Given the description of an element on the screen output the (x, y) to click on. 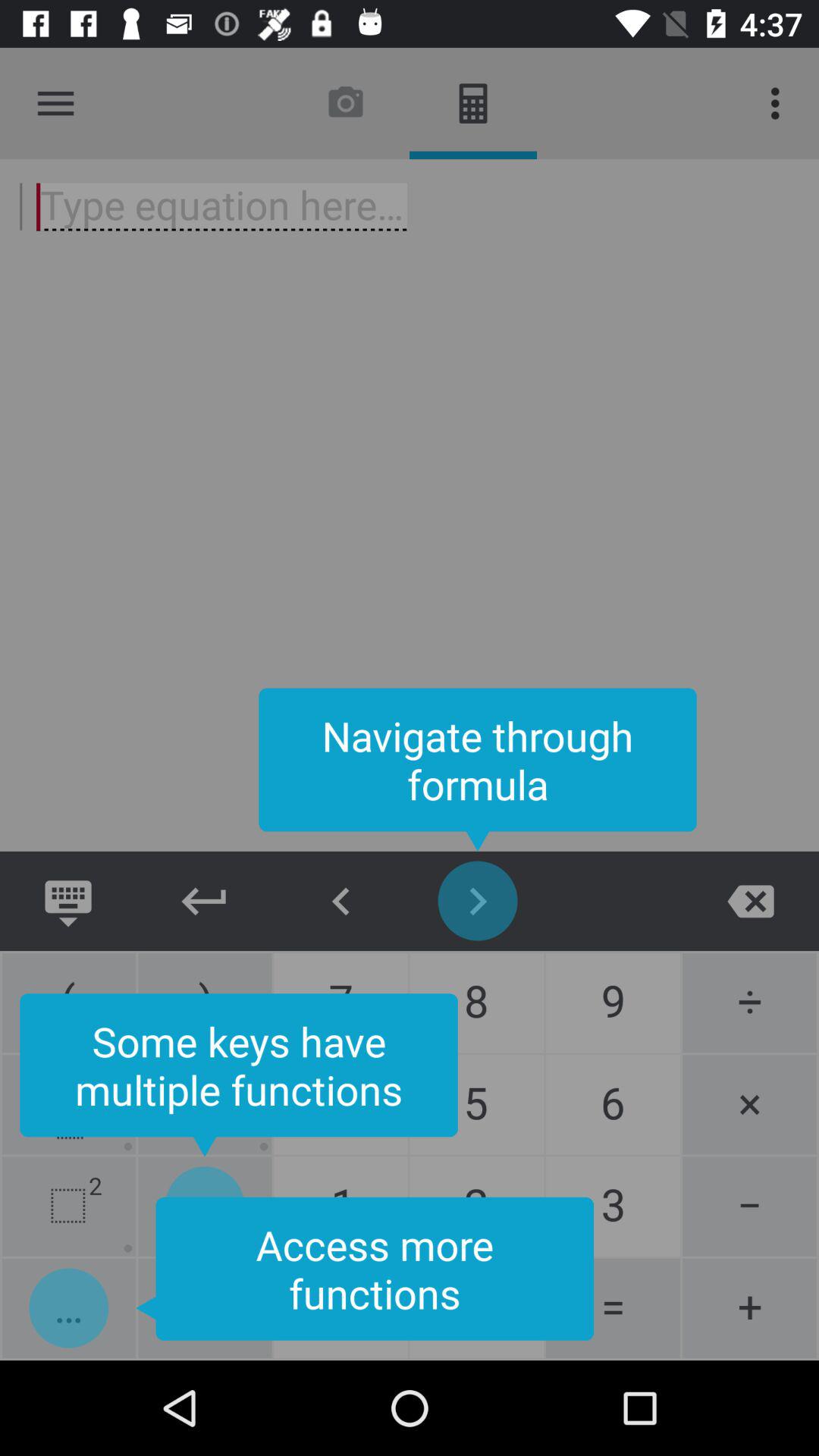
go to back (750, 900)
